Given the description of an element on the screen output the (x, y) to click on. 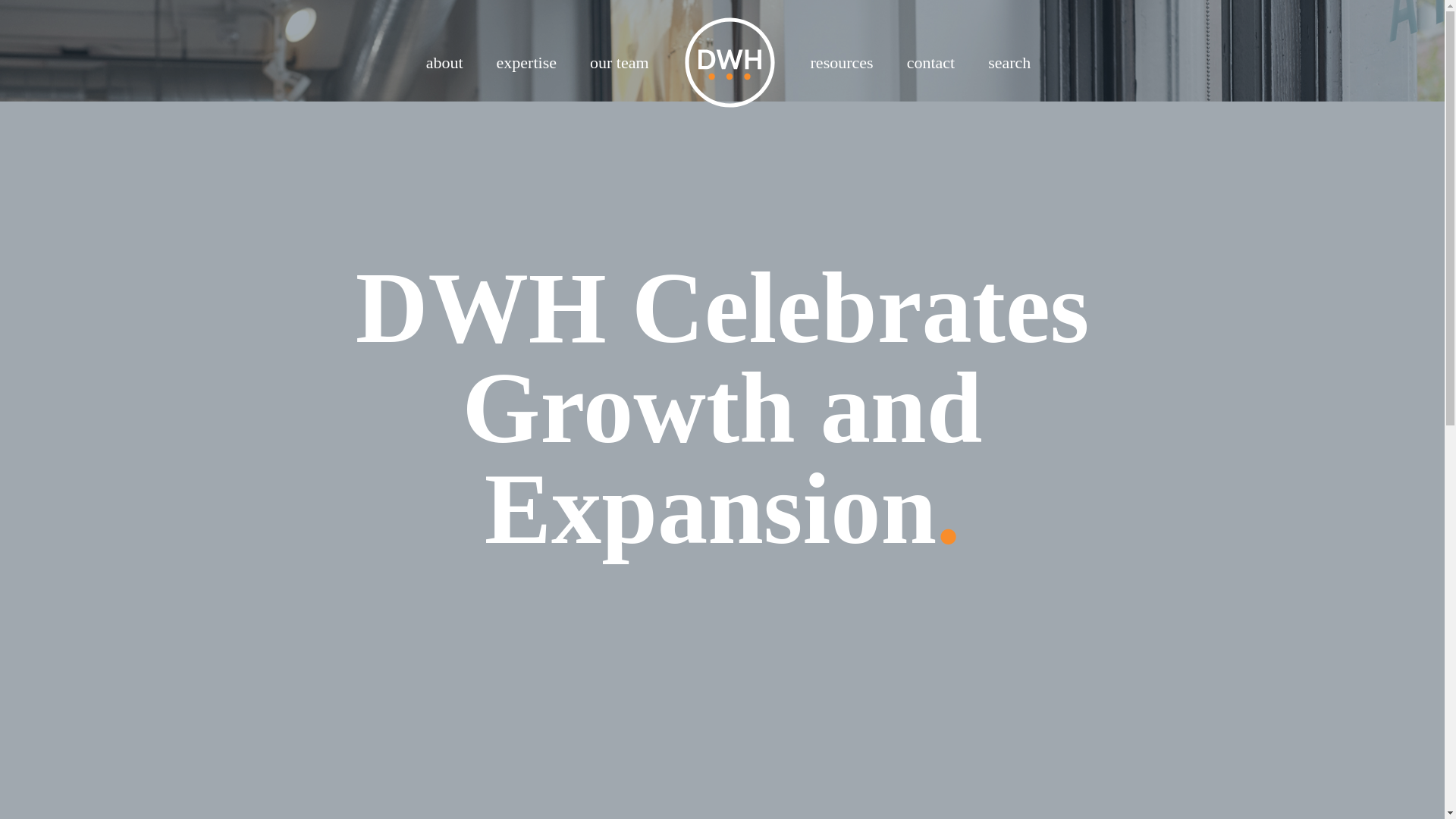
resources (841, 61)
search (1009, 61)
expertise (526, 61)
about (444, 61)
dwh logo (729, 62)
our team (619, 61)
contact (931, 61)
